Given the description of an element on the screen output the (x, y) to click on. 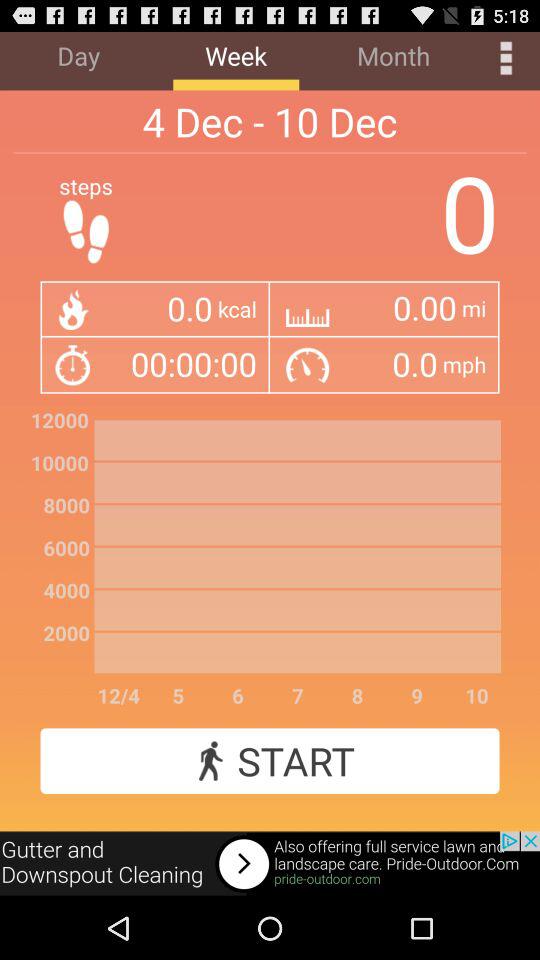
advertisement (270, 864)
